Given the description of an element on the screen output the (x, y) to click on. 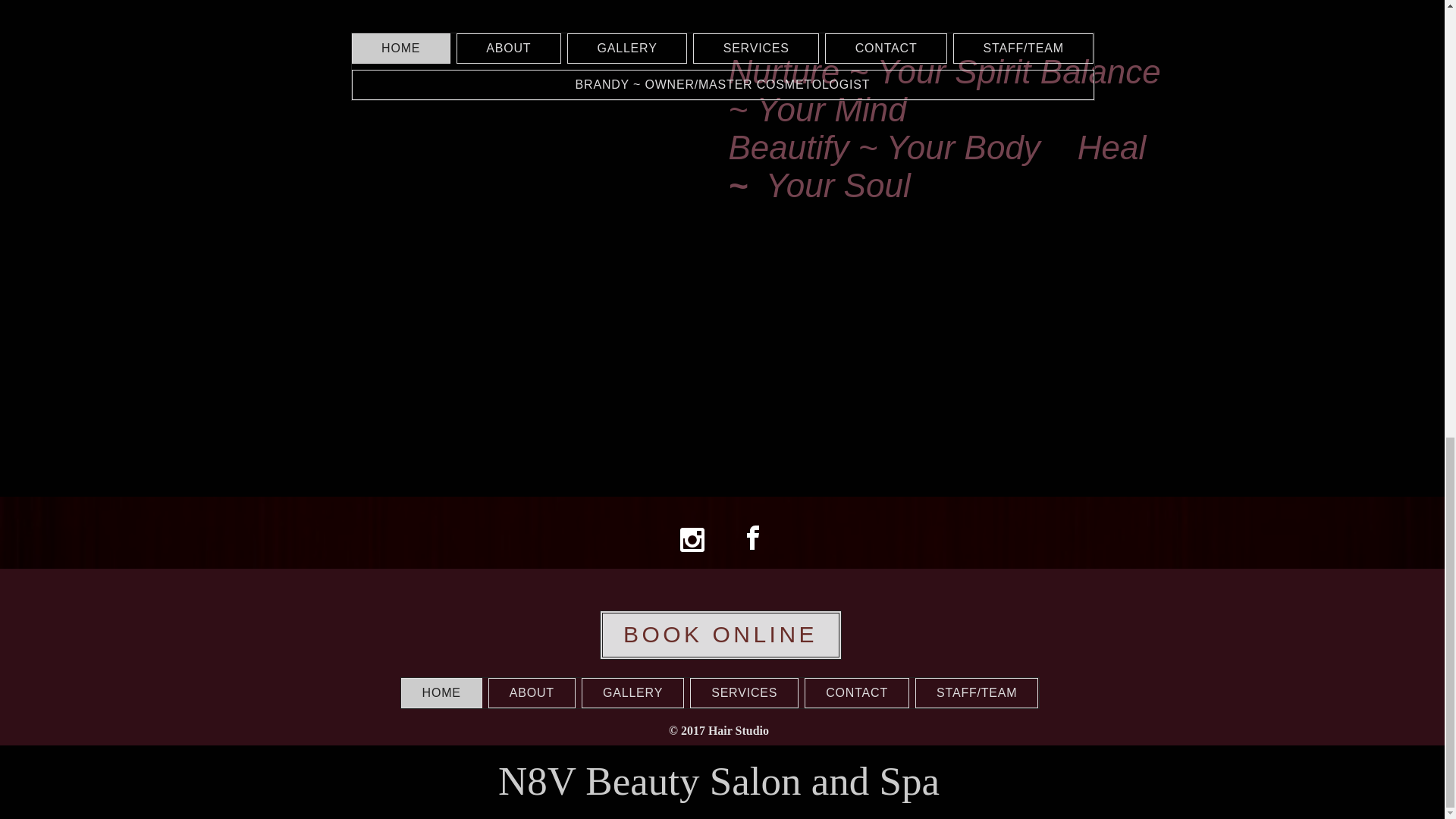
ABOUT (531, 693)
HOME (440, 693)
BOOK ONLINE (719, 635)
GALLERY (632, 693)
CONTACT (856, 693)
SERVICES (743, 693)
